Given the description of an element on the screen output the (x, y) to click on. 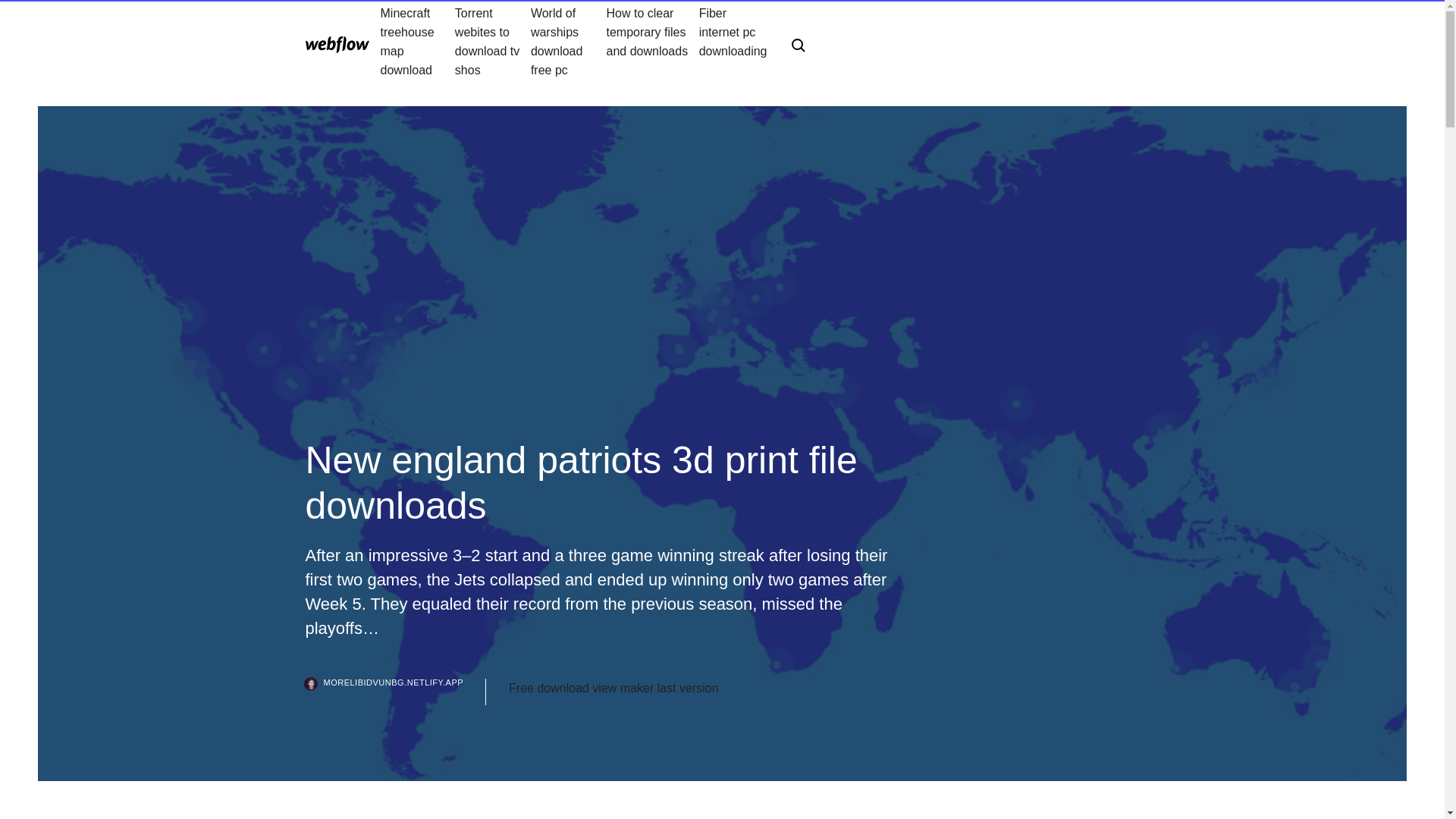
Free download view maker last version (613, 687)
Fiber internet pc downloading (732, 41)
World of warships download free pc (569, 41)
MORELIBIDVUNBG.NETLIFY.APP (395, 691)
Minecraft treehouse map download (417, 41)
How to clear temporary files and downloads (652, 41)
Torrent webites to download tv shos (492, 41)
